Given the description of an element on the screen output the (x, y) to click on. 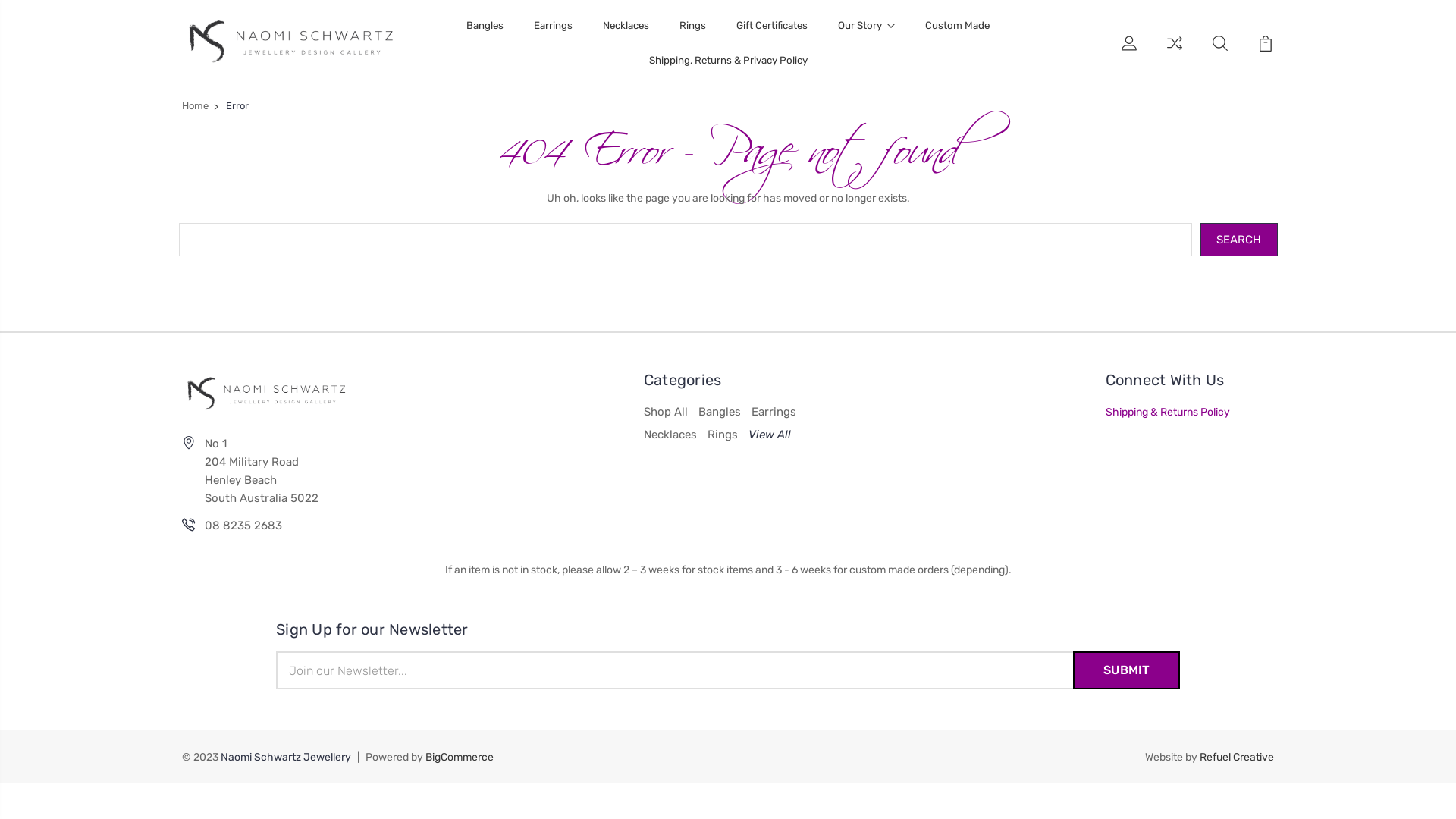
Shipping, Returns & Privacy Policy Element type: text (728, 69)
Gift Certificates Element type: text (771, 34)
Custom Made Element type: text (957, 34)
Home Element type: text (195, 105)
Search Element type: text (1238, 239)
Necklaces Element type: text (625, 34)
Our Story Element type: text (865, 34)
Bangles Element type: text (484, 34)
BigCommerce Element type: text (459, 756)
Refuel Creative Element type: text (1236, 756)
Bangles Element type: text (719, 411)
Shop All Element type: text (665, 411)
Rings Element type: text (692, 34)
Naomi Schwartz Jewellery Element type: hover (291, 43)
submit Element type: text (1126, 670)
Earrings Element type: text (773, 411)
Earrings Element type: text (552, 34)
Shipping & Returns Policy Element type: text (1167, 410)
Rings Element type: text (722, 434)
View All Element type: text (769, 434)
Necklaces Element type: text (669, 434)
08 8235 2683 Element type: text (243, 525)
Compare Element type: hover (1174, 51)
